Given the description of an element on the screen output the (x, y) to click on. 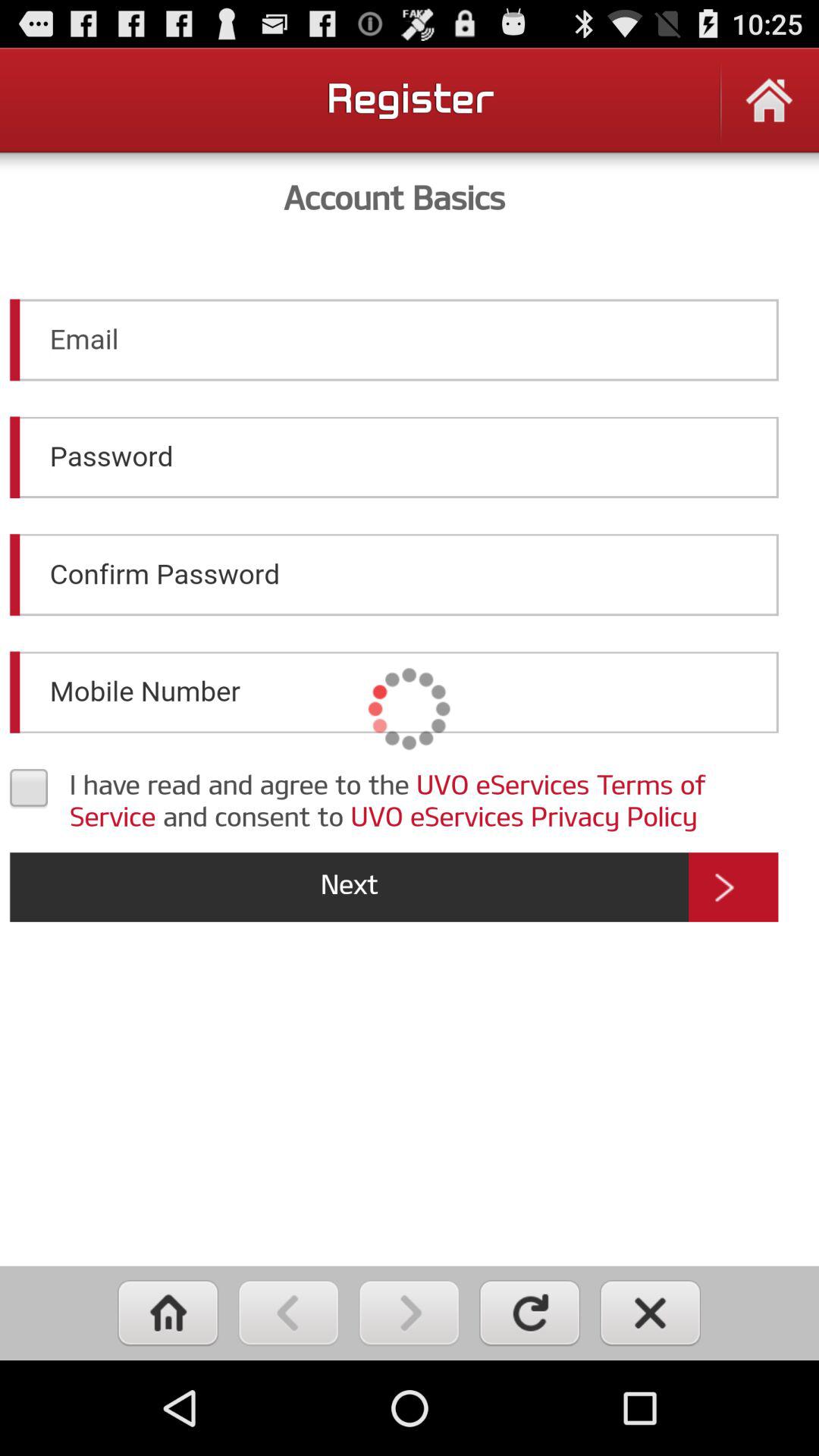
back option (288, 1313)
